Given the description of an element on the screen output the (x, y) to click on. 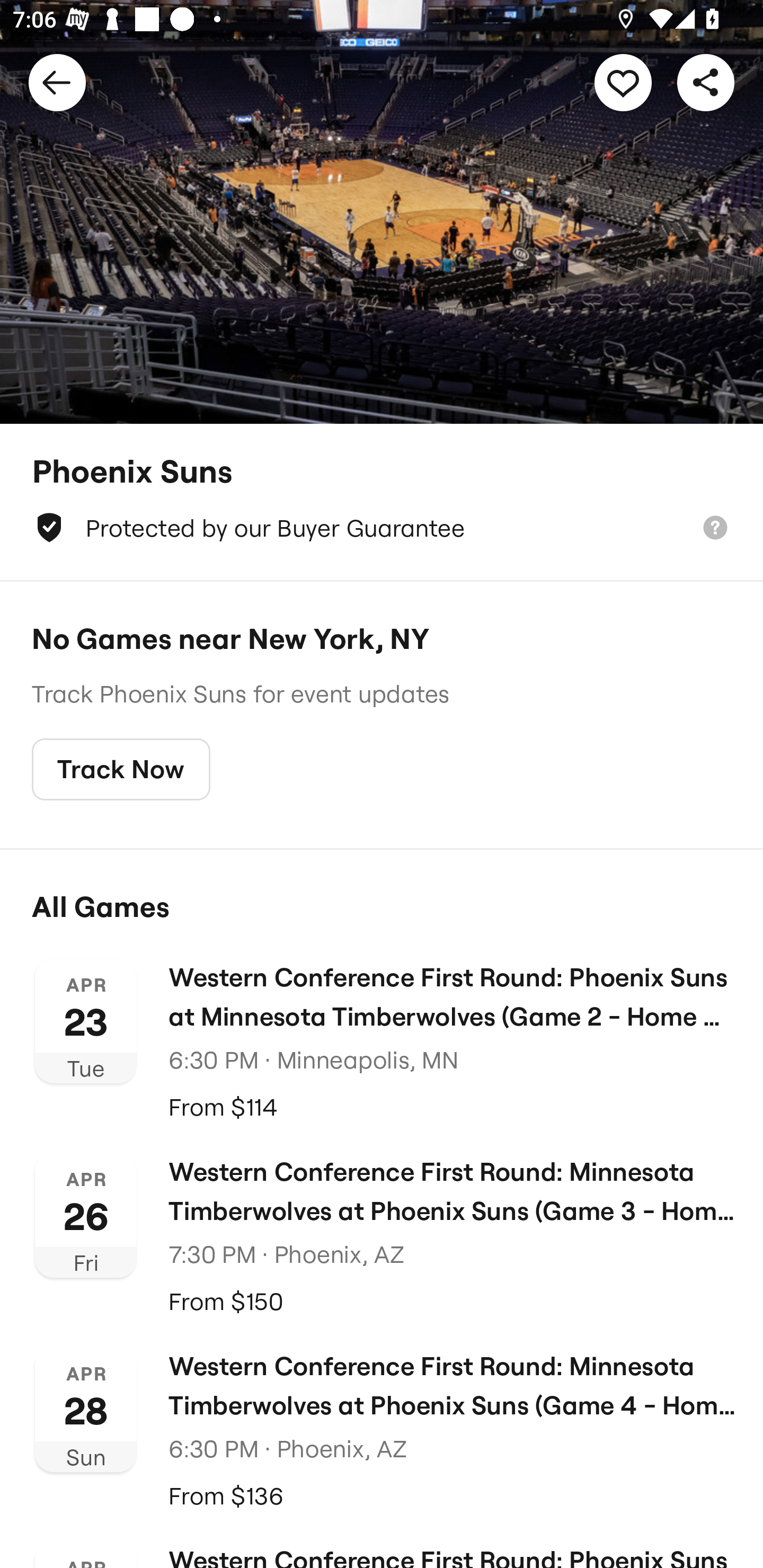
Back (57, 81)
Track this performer (623, 81)
Share this performer (705, 81)
Protected by our Buyer Guarantee Learn more (381, 527)
Track Now (121, 769)
